Given the description of an element on the screen output the (x, y) to click on. 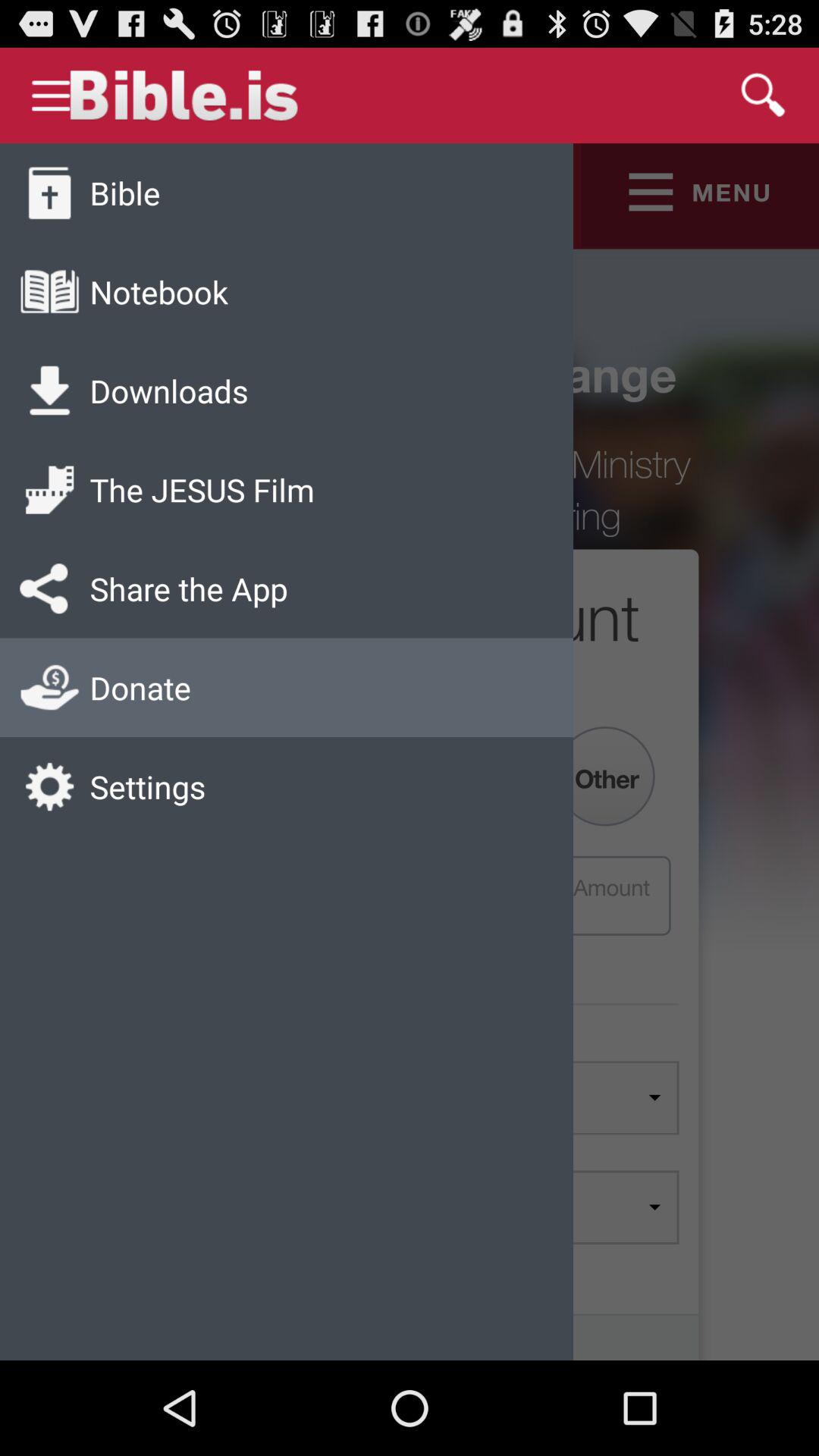
press icon above the jesus film app (168, 390)
